Given the description of an element on the screen output the (x, y) to click on. 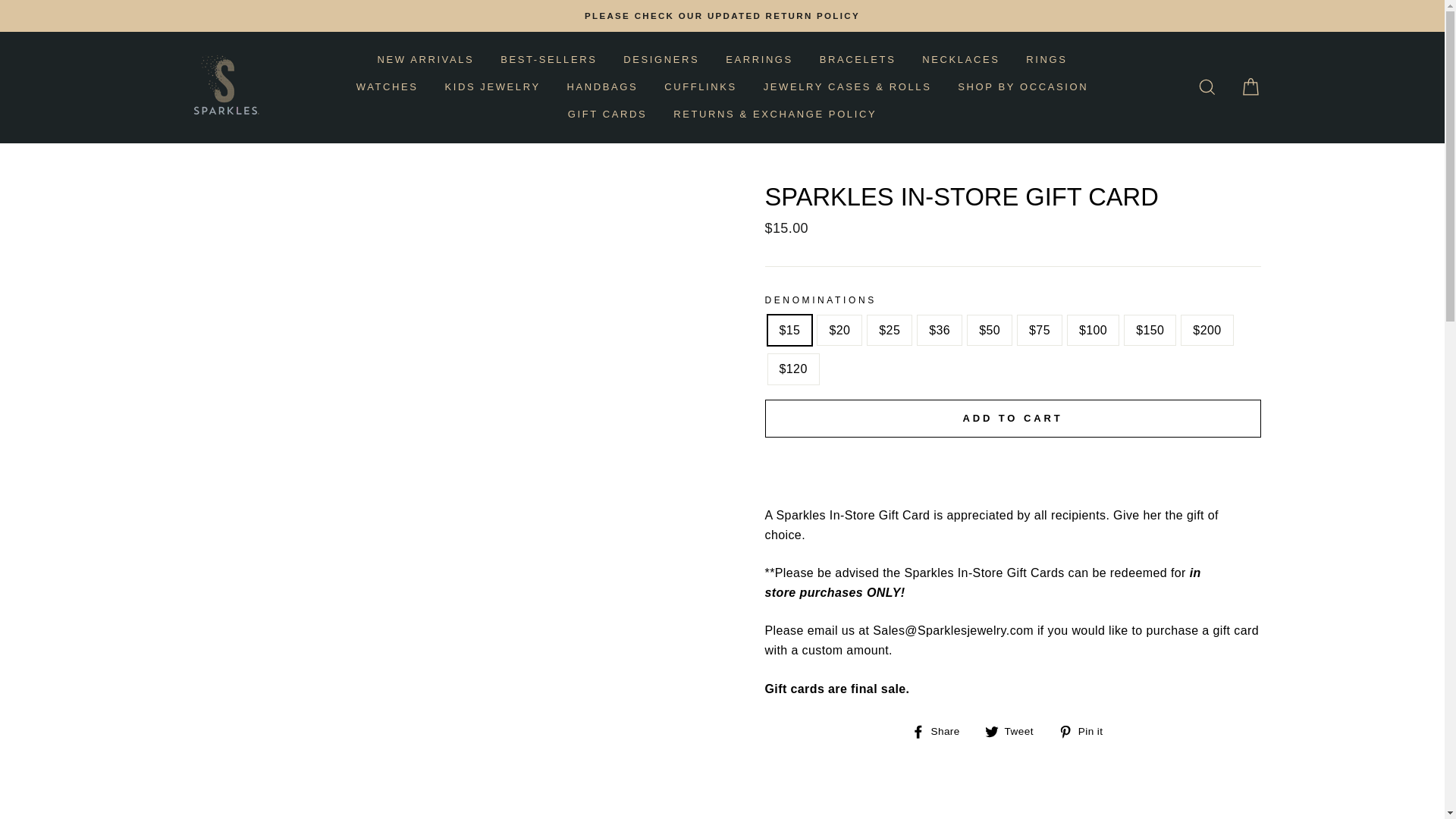
Pin on Pinterest (1085, 731)
Share on Facebook (941, 731)
Tweet on Twitter (1015, 731)
